Given the description of an element on the screen output the (x, y) to click on. 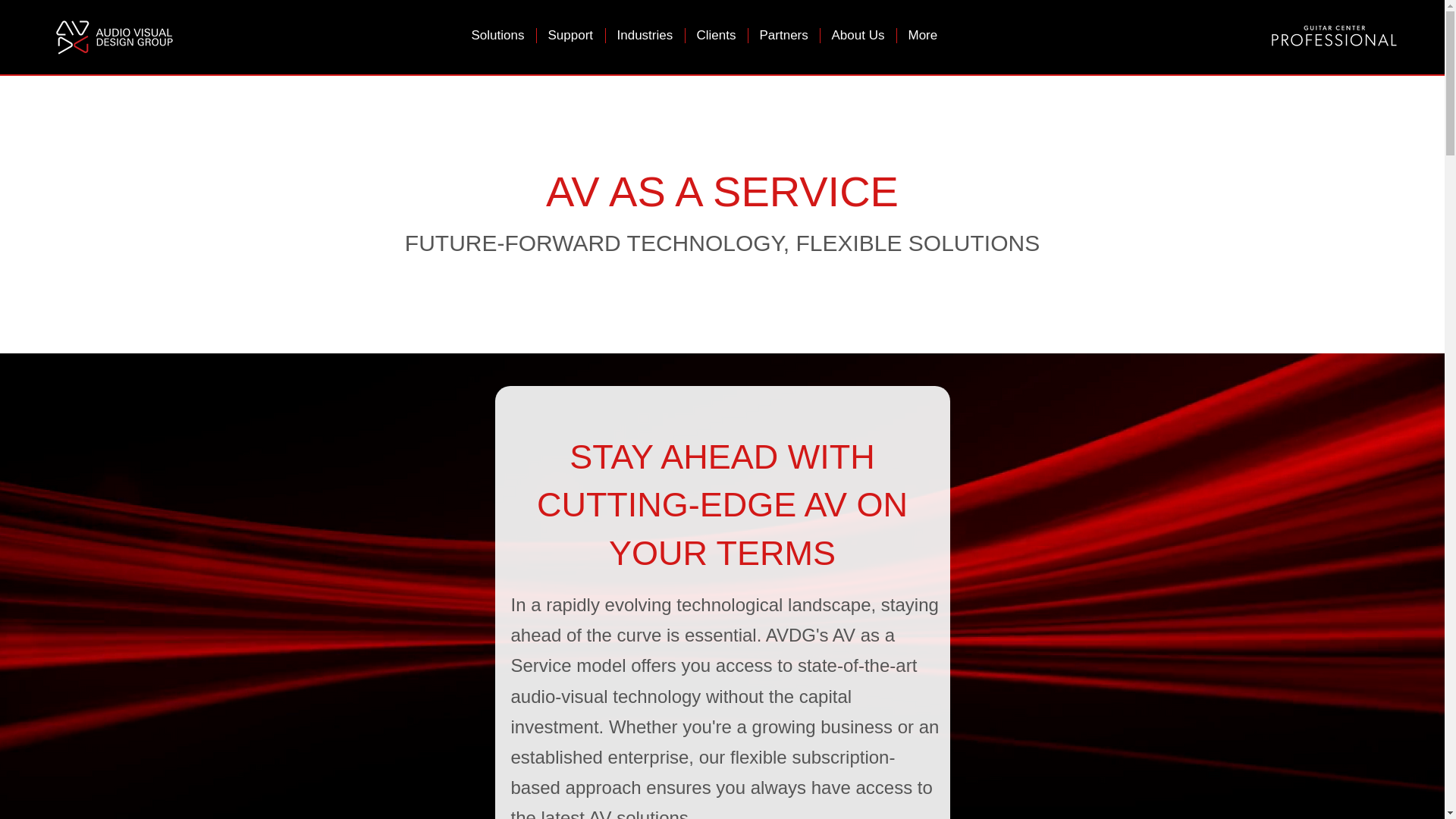
Support (569, 35)
Clients (715, 35)
Solutions (497, 35)
Industries (644, 35)
About Us (856, 35)
Partners (783, 35)
